Given the description of an element on the screen output the (x, y) to click on. 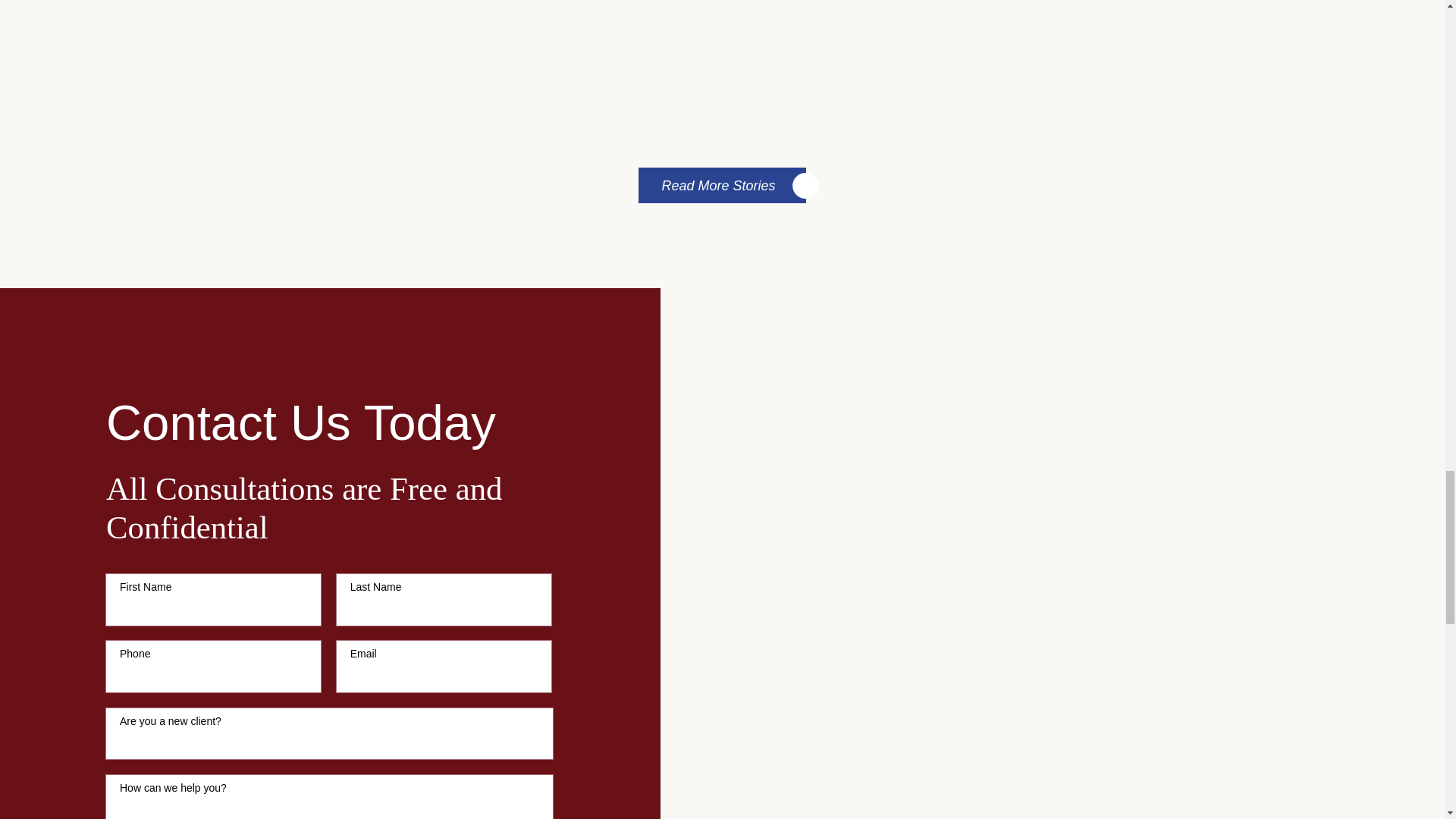
View next item (744, 117)
View previous item (699, 117)
